Given the description of an element on the screen output the (x, y) to click on. 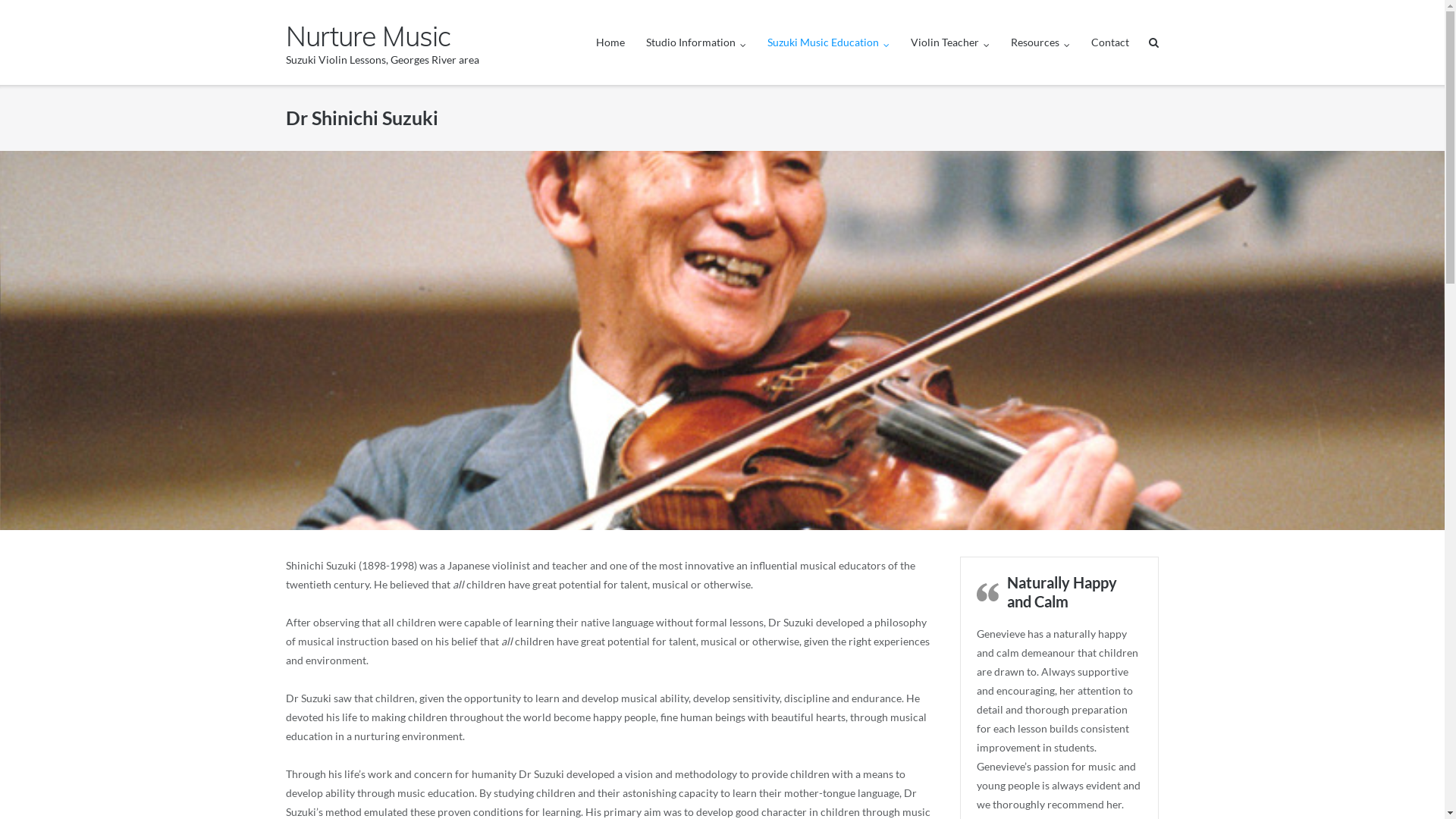
Home Element type: text (610, 42)
Contact Element type: text (1110, 42)
Skip to content Element type: text (0, 0)
Studio Information Element type: text (696, 42)
Nurture Music Element type: text (382, 35)
Violin Teacher Element type: text (949, 42)
Suzuki Music Education Element type: text (828, 42)
Resources Element type: text (1040, 42)
